Given the description of an element on the screen output the (x, y) to click on. 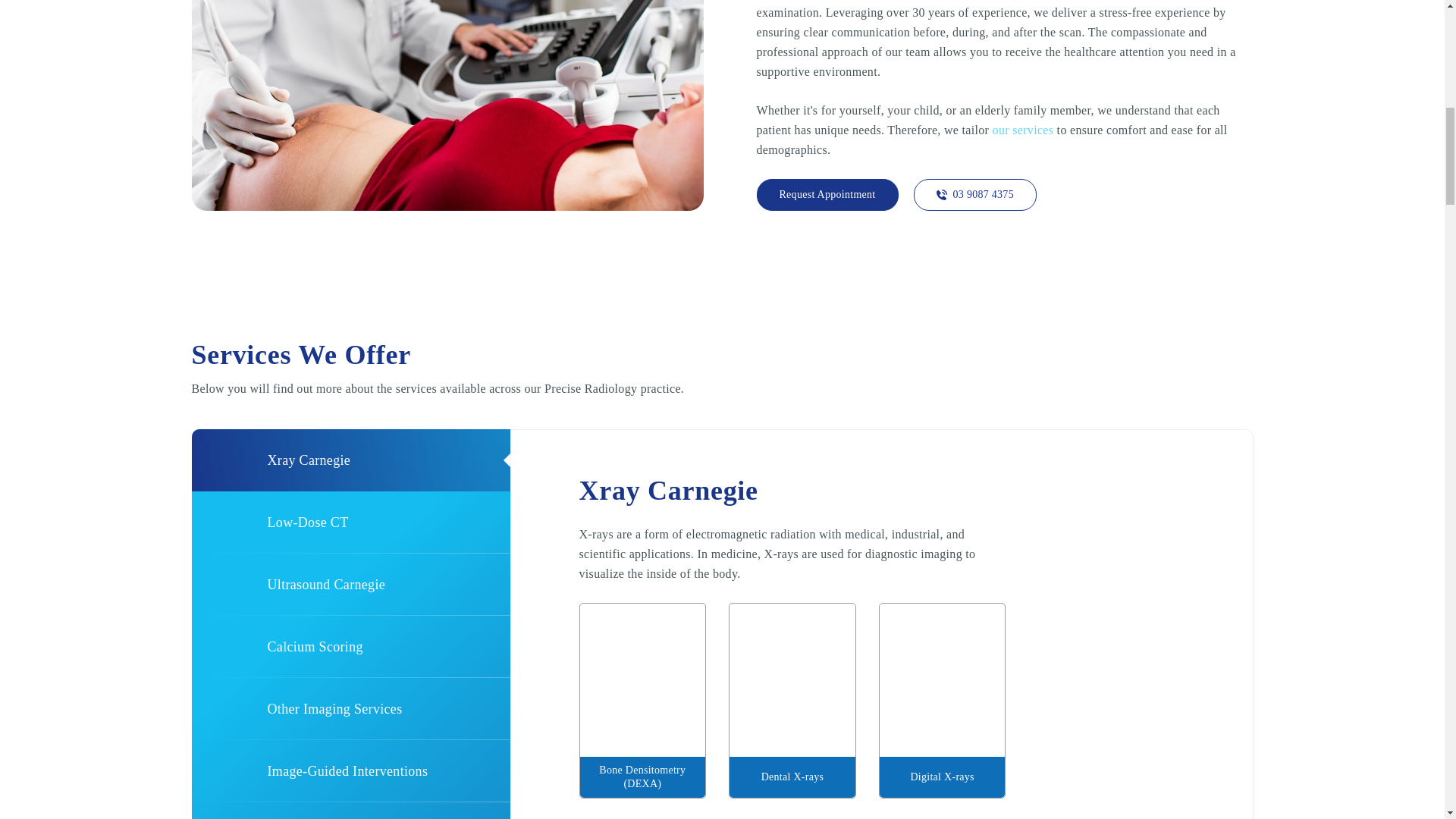
our services (1023, 129)
phone-call (941, 194)
Request Appointment (827, 194)
03 9087 4375 (975, 194)
